Given the description of an element on the screen output the (x, y) to click on. 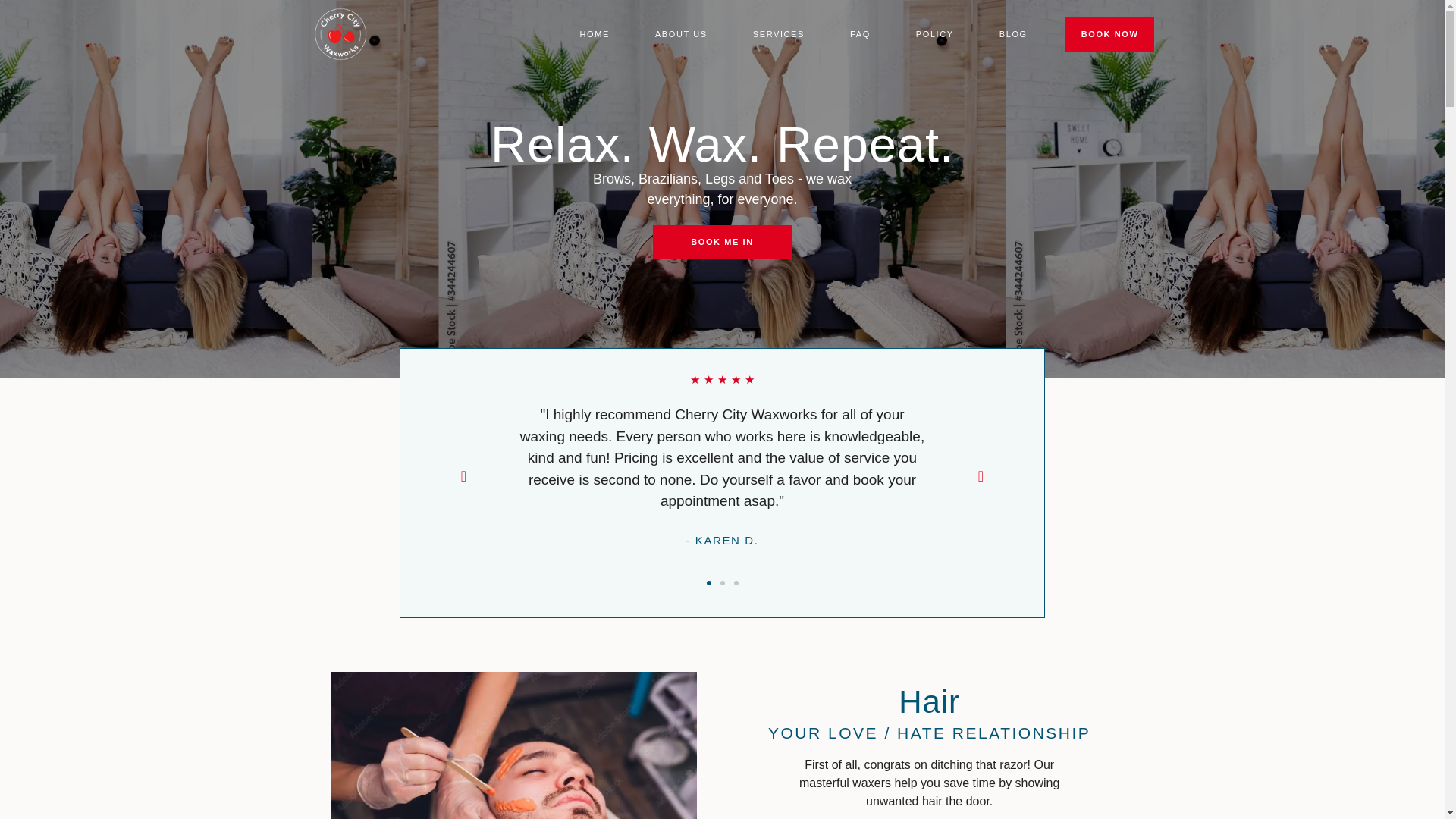
BOOK NOW (1109, 33)
BLOG (1013, 33)
SERVICES (778, 33)
ABOUT US (680, 33)
BOOK ME IN (722, 241)
FAQ (860, 33)
HOME (594, 33)
POLICY (934, 33)
